Given the description of an element on the screen output the (x, y) to click on. 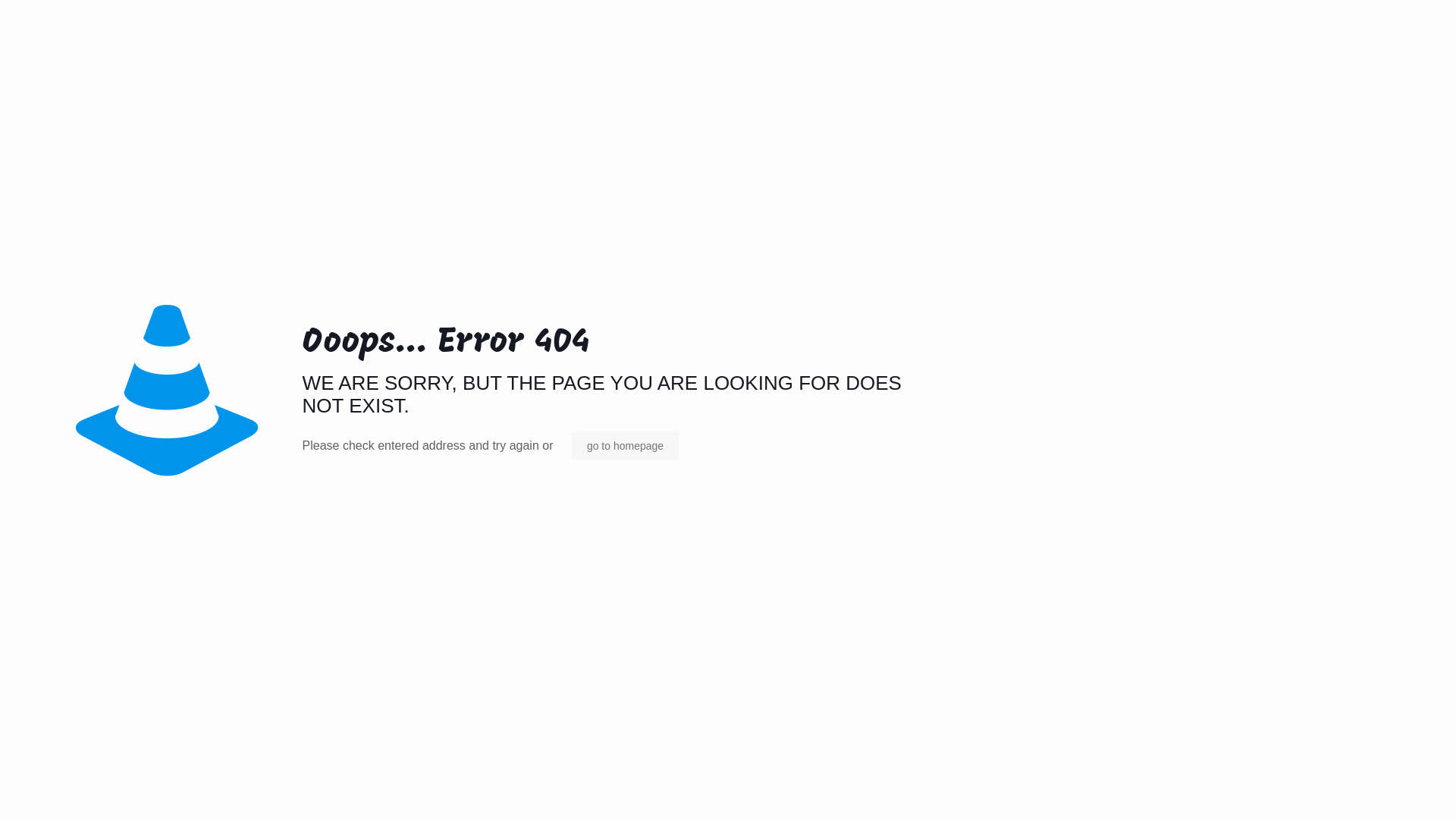
go to homepage Element type: text (624, 445)
